Given the description of an element on the screen output the (x, y) to click on. 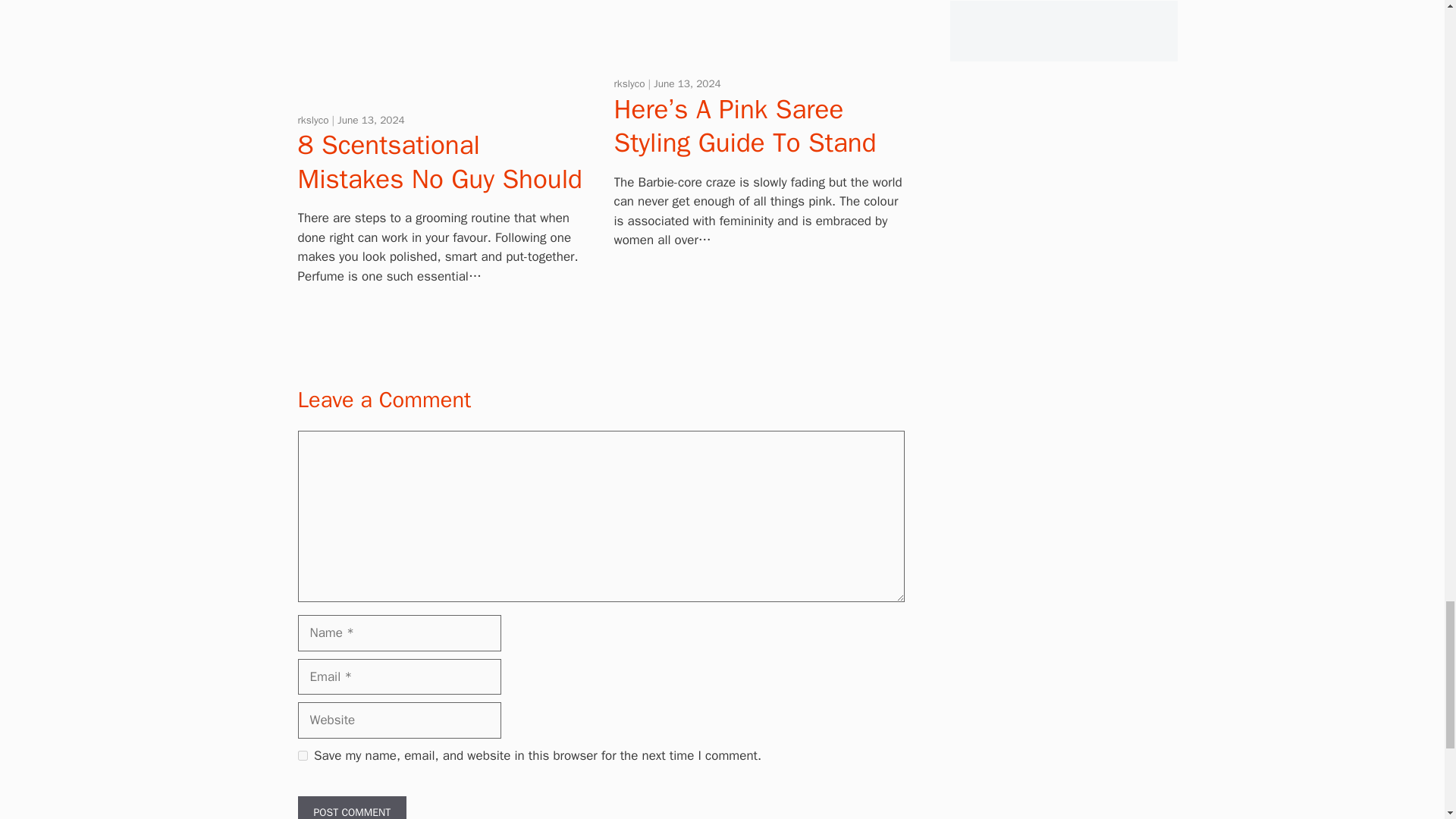
View all posts by rkslyco (314, 119)
rkslyco (630, 83)
rkslyco (314, 119)
yes (302, 755)
June 13, 2024 (686, 83)
6:51 pm (370, 119)
June 13, 2024 (370, 119)
Post Comment (351, 807)
